Given the description of an element on the screen output the (x, y) to click on. 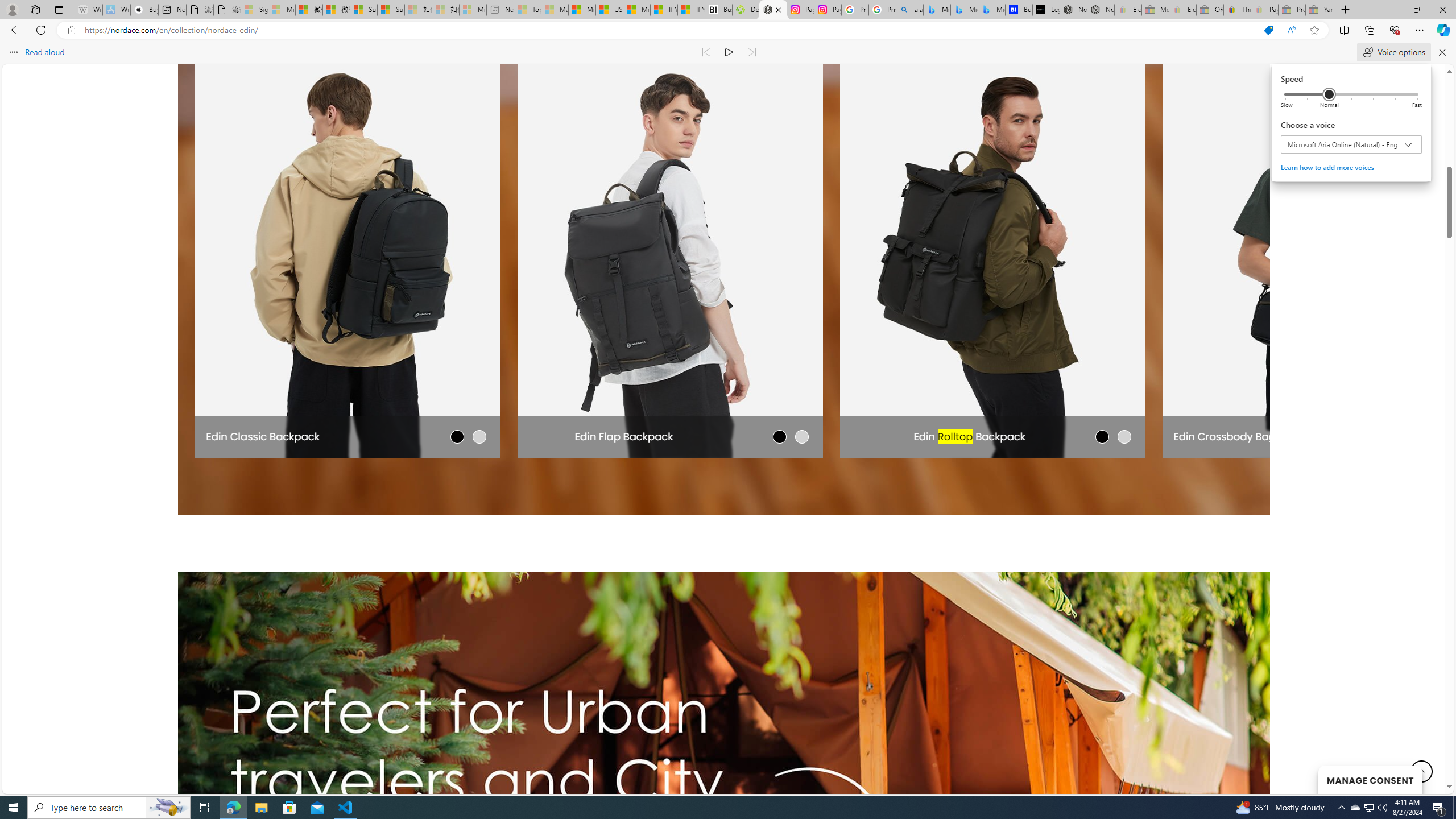
Search highlights icon opens search home window (167, 807)
Read previous paragraph (705, 52)
Microsoft Bing Travel - Shangri-La Hotel Bangkok (991, 9)
Microsoft account | Account Checkup - Sleeping (473, 9)
File Explorer (261, 807)
Action Center, 1 new notification (1439, 807)
Start (13, 807)
Nordace - Nordace Edin Collection (773, 9)
